Given the description of an element on the screen output the (x, y) to click on. 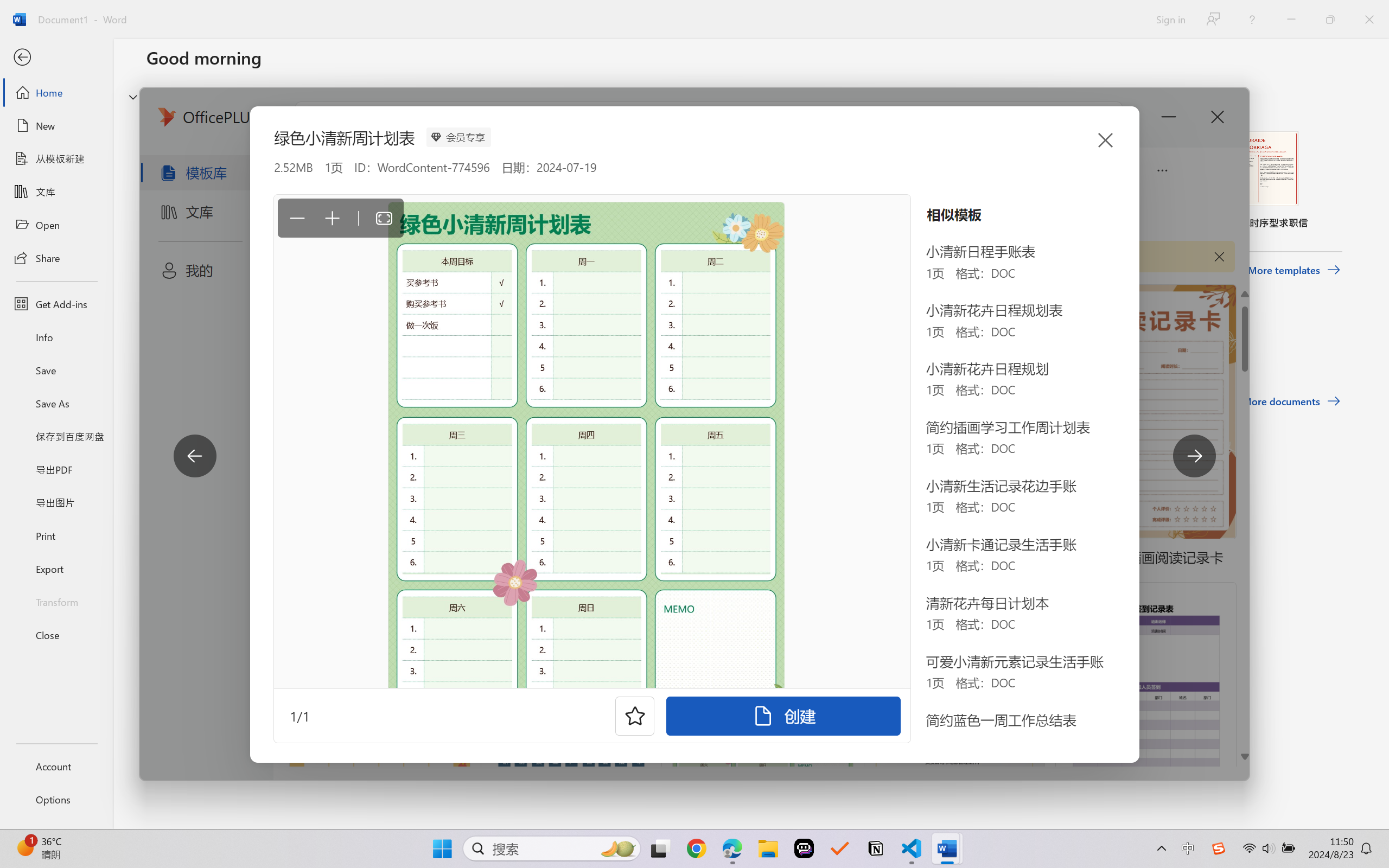
Back (56, 57)
Account (56, 765)
Print (56, 535)
